Given the description of an element on the screen output the (x, y) to click on. 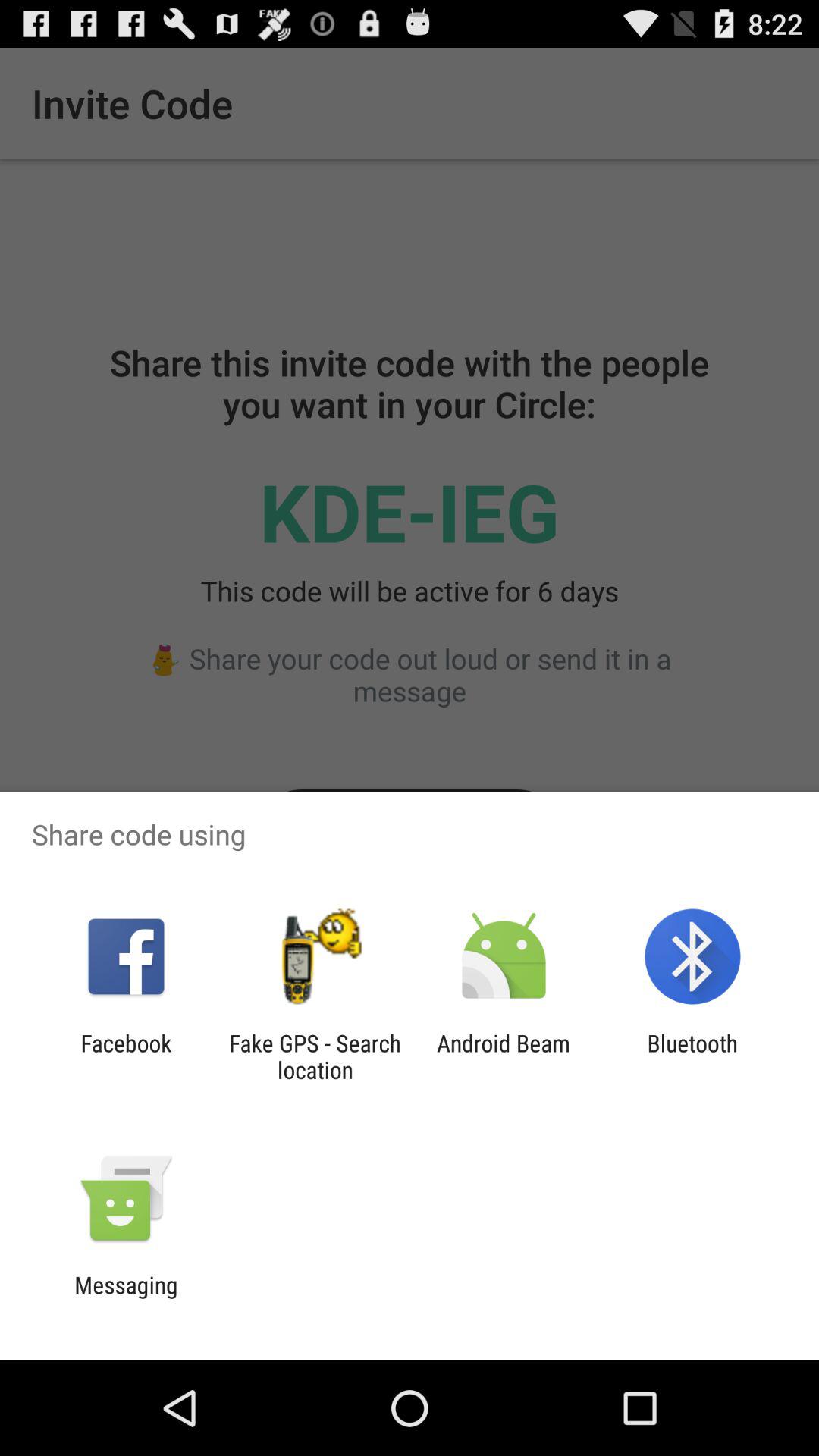
click app to the right of fake gps search (503, 1056)
